Given the description of an element on the screen output the (x, y) to click on. 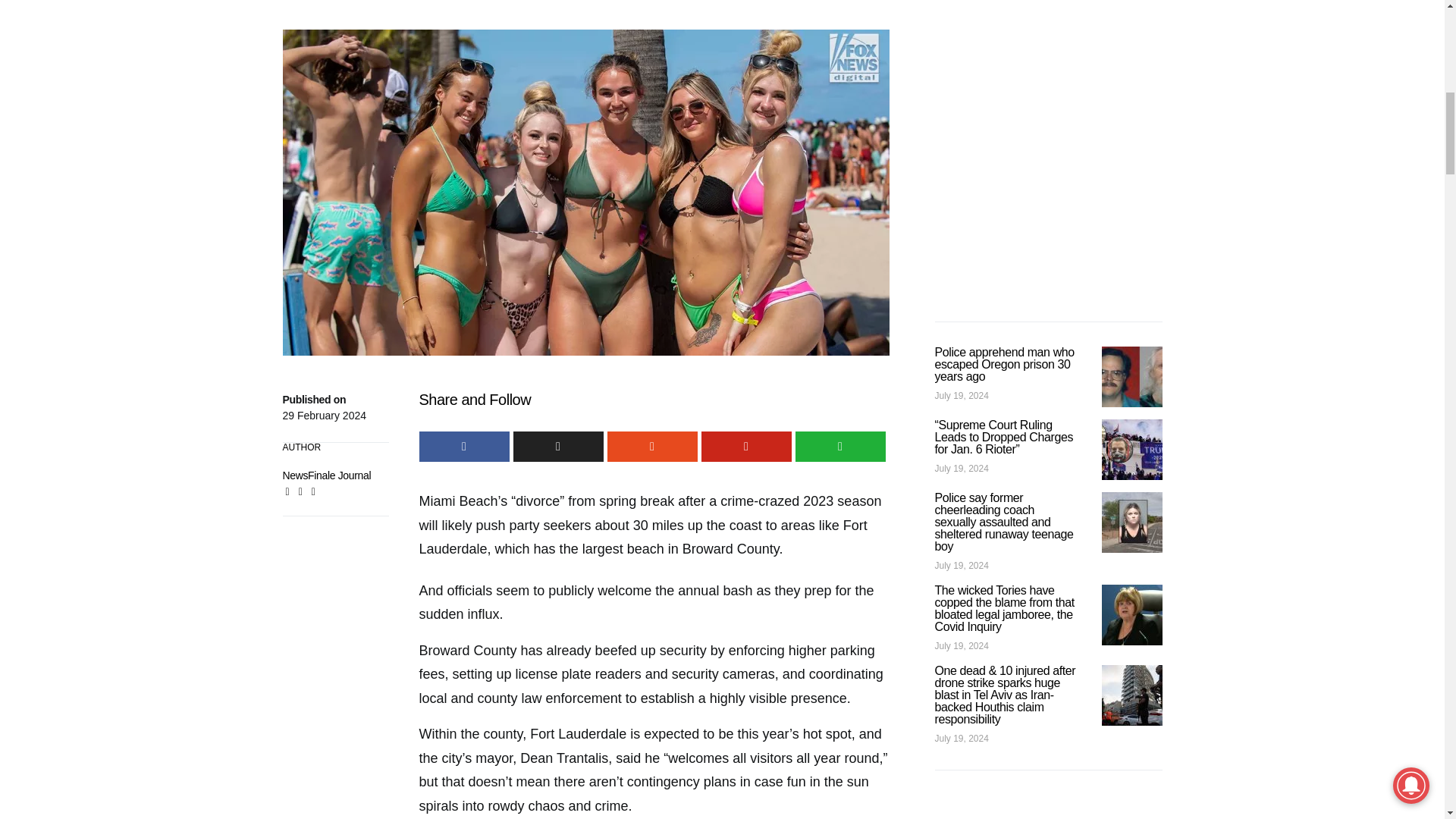
Advertisement (585, 14)
